Given the description of an element on the screen output the (x, y) to click on. 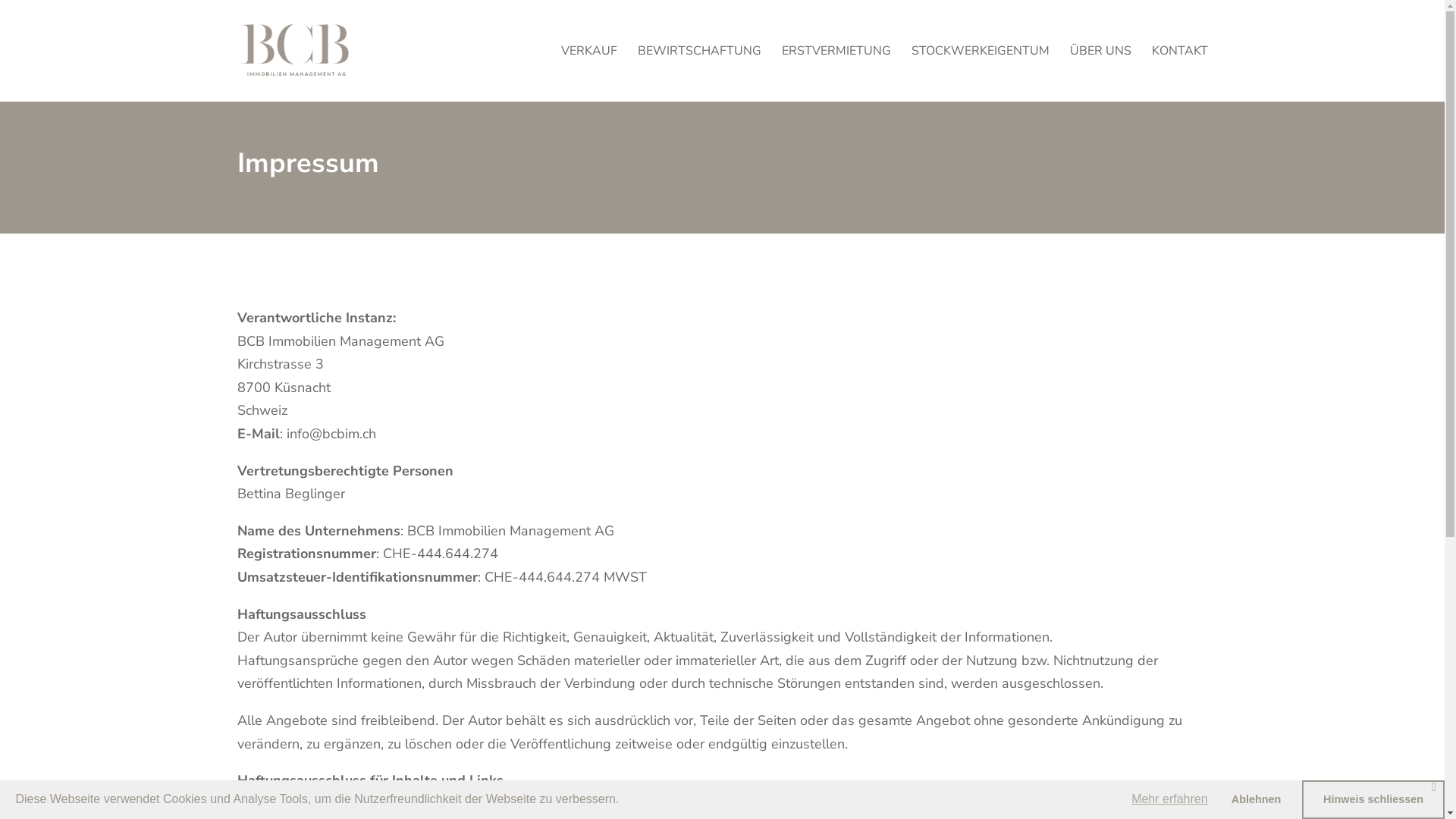
ERSTVERMIETUNG Element type: text (835, 73)
VERKAUF Element type: text (589, 73)
STOCKWERKEIGENTUM Element type: text (980, 73)
KONTAKT Element type: text (1179, 73)
Mehr erfahren Element type: text (1169, 798)
BEWIRTSCHAFTUNG Element type: text (698, 73)
